Given the description of an element on the screen output the (x, y) to click on. 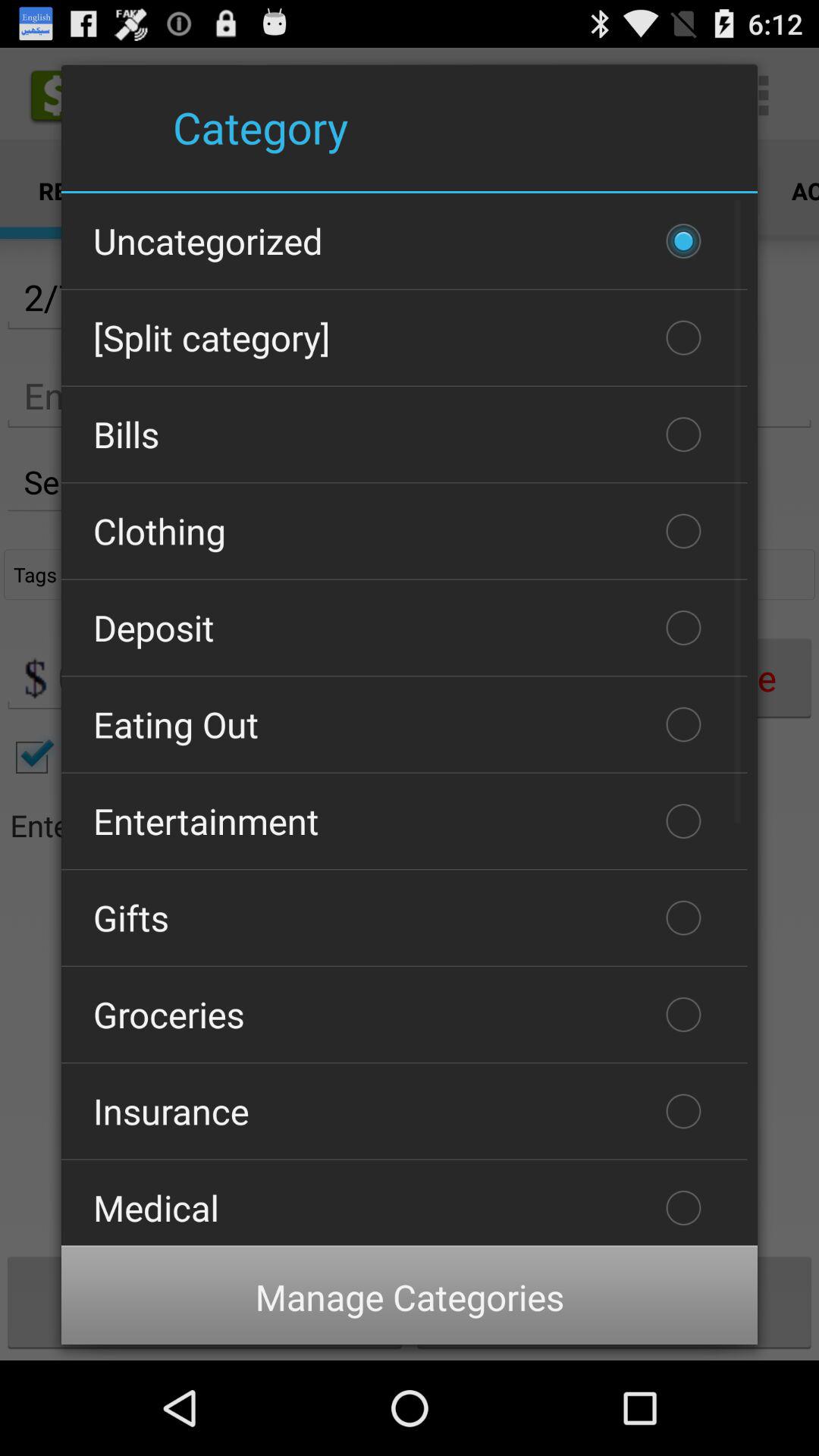
press manage categories button (409, 1296)
